Given the description of an element on the screen output the (x, y) to click on. 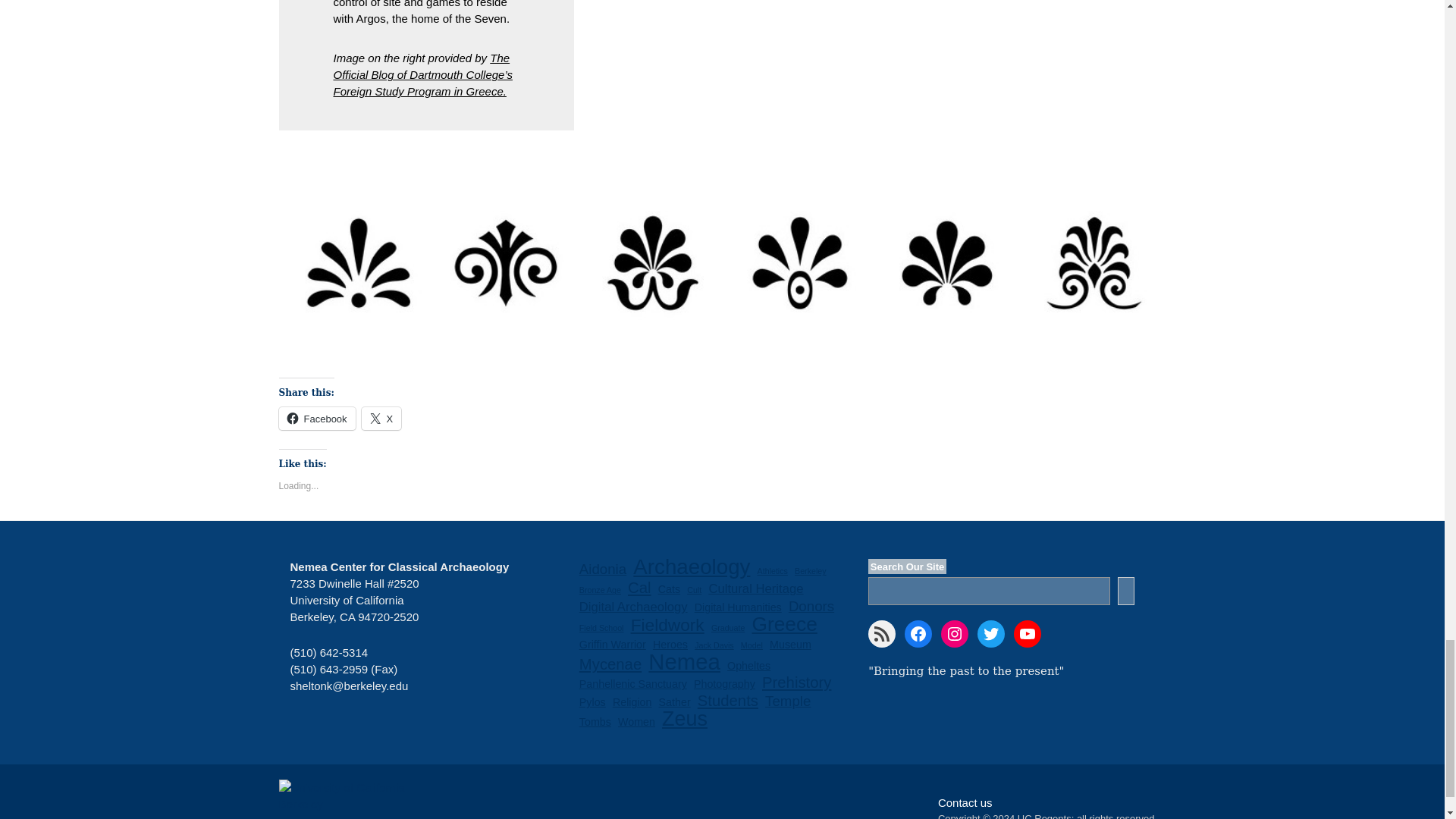
Facebook (317, 418)
Model (751, 645)
Click to share on X (381, 418)
Digital Humanities (737, 606)
Fieldwork (667, 624)
Archaeology (691, 566)
Heroes (669, 644)
Graduate (727, 627)
Field School (601, 627)
Bronze Age (600, 589)
